Given the description of an element on the screen output the (x, y) to click on. 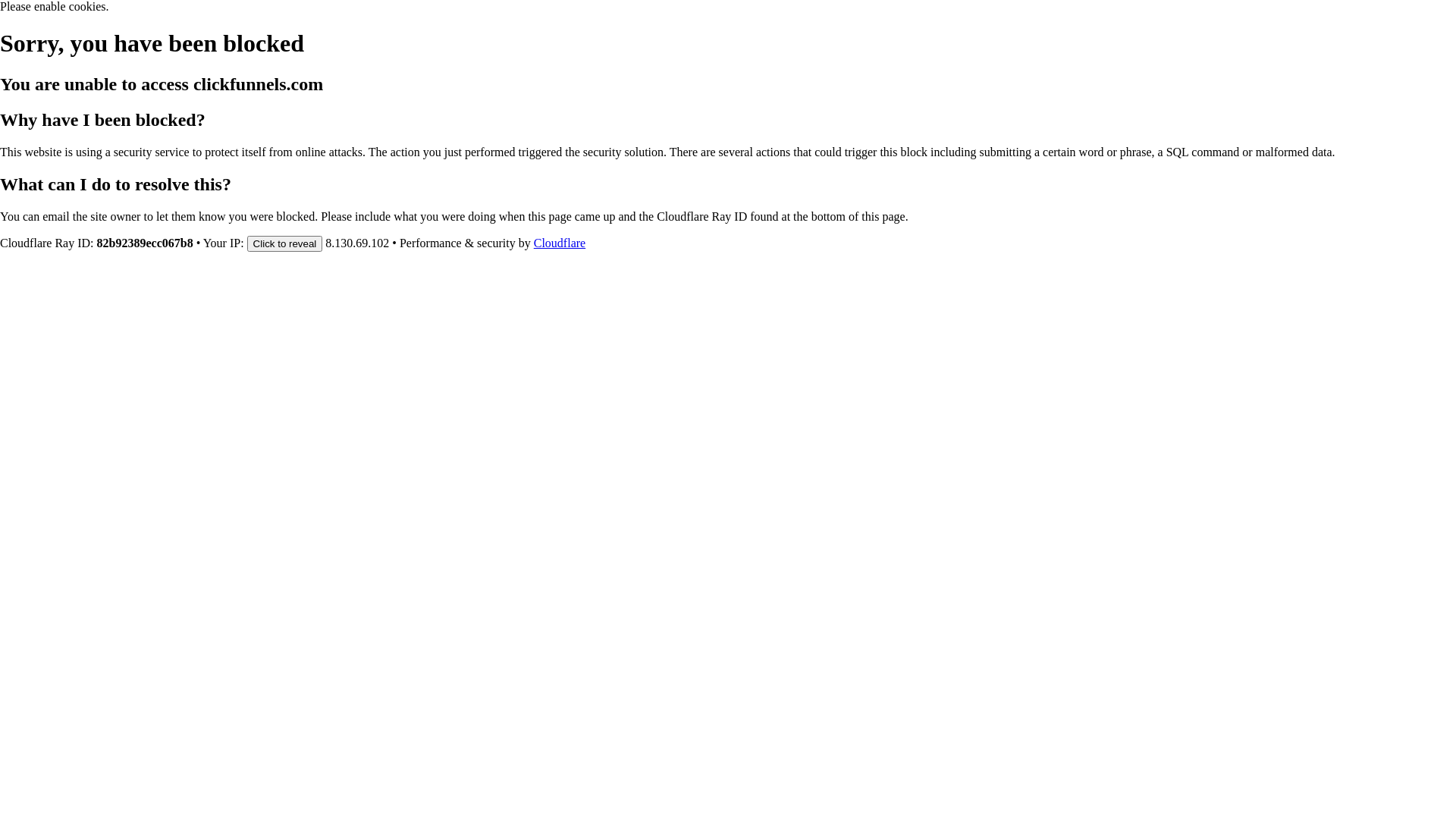
Click to reveal Element type: text (285, 243)
Cloudflare Element type: text (559, 242)
